Given the description of an element on the screen output the (x, y) to click on. 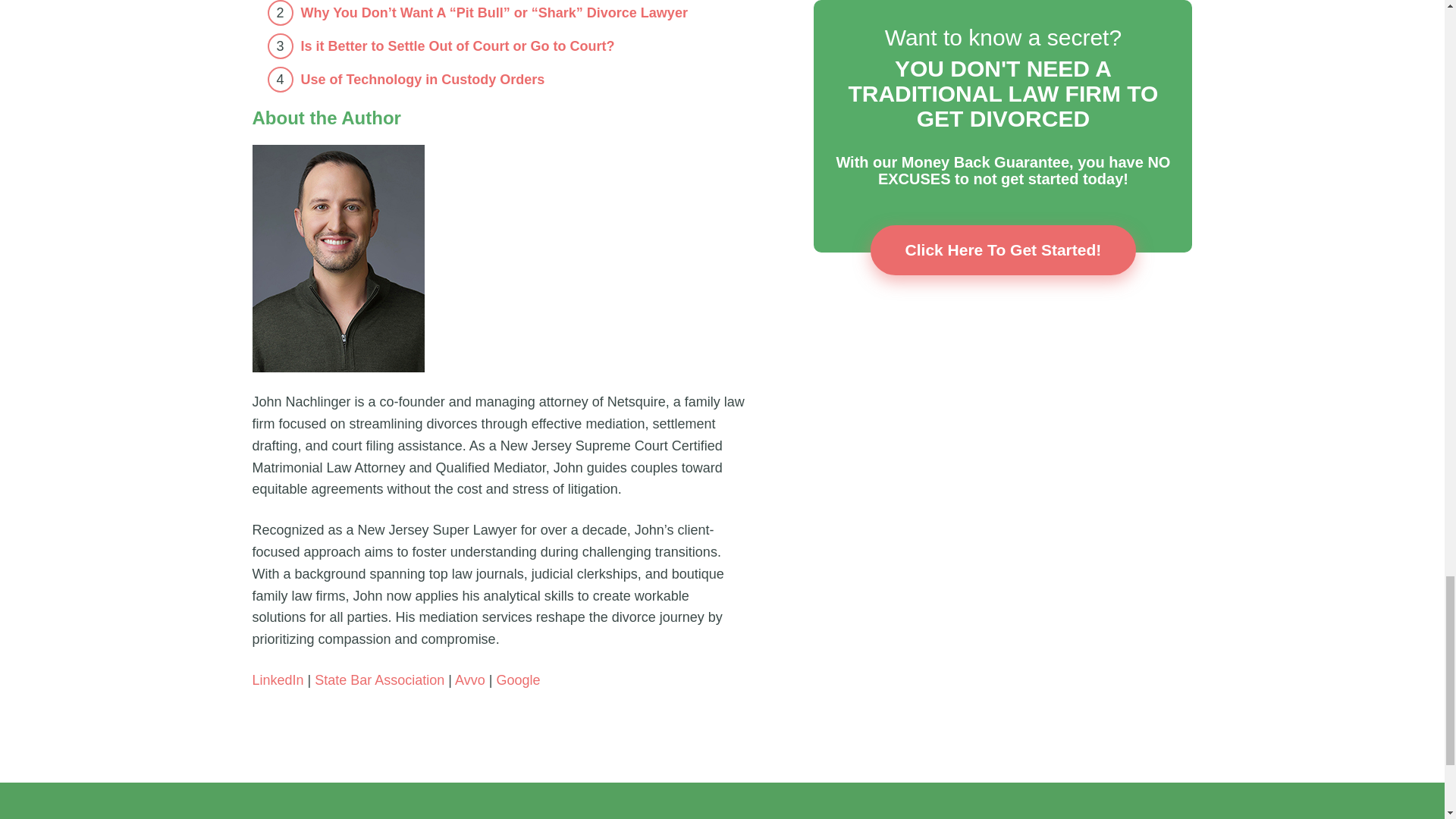
Is it Better to Settle Out of Court or Go to Court? (456, 46)
Use of Technology in Custody Orders (421, 79)
Use of Technology in Custody Orders (421, 79)
LinkedIn (276, 679)
Is it Better to Settle Out of Court or Go to Court? (456, 46)
